Given the description of an element on the screen output the (x, y) to click on. 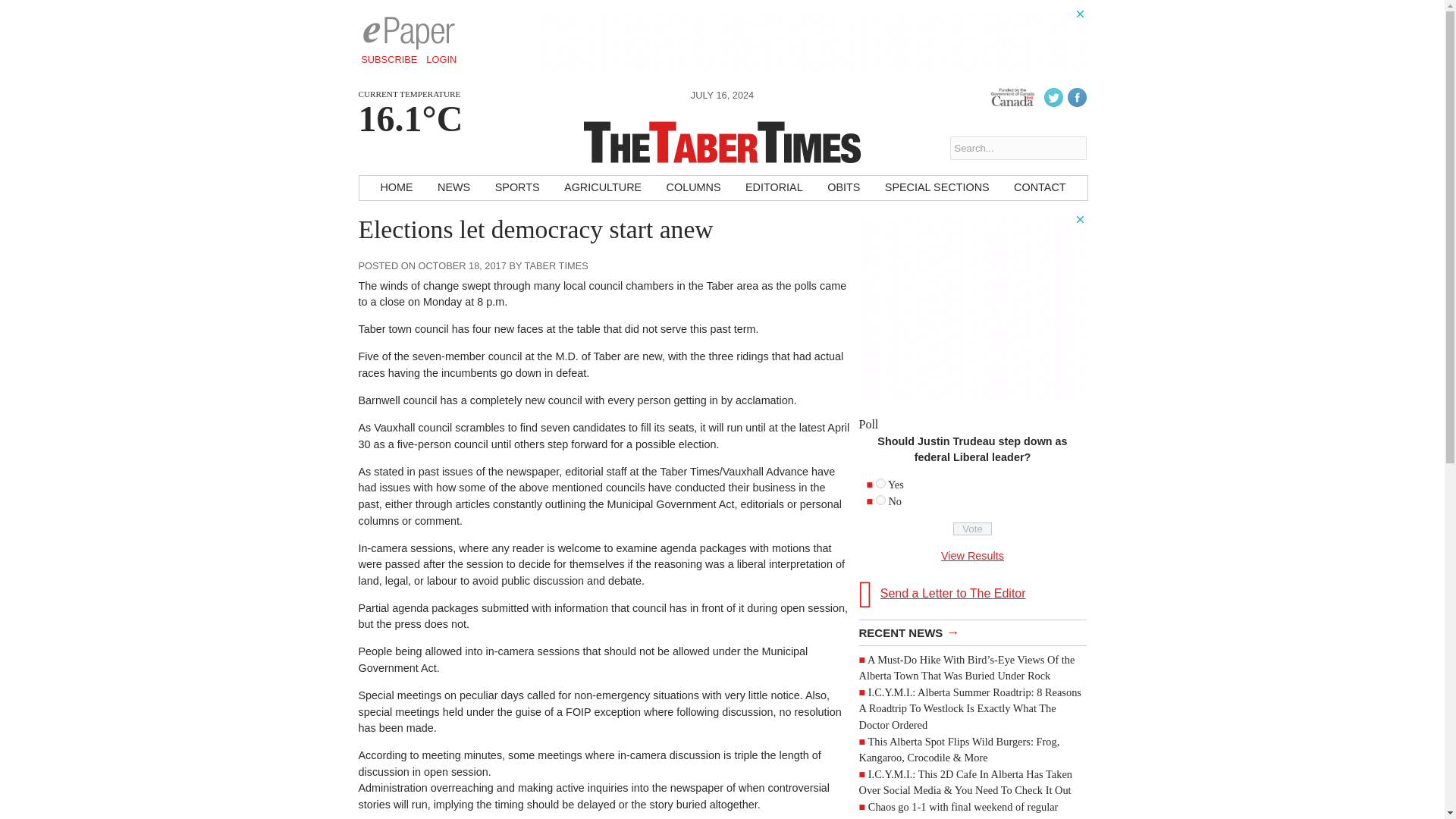
SUBSCRIBE (389, 58)
SPORTS (517, 187)
AGRICULTURE (602, 187)
SPECIAL SECTIONS (937, 187)
3rd party ad content (810, 41)
HOME (396, 187)
Send a Letter to The Editor (972, 594)
522 (880, 500)
EDITORIAL (774, 187)
View Results Of This Poll (972, 555)
Chaos go 1-1 with final weekend of regular season looming (958, 809)
NEWS (453, 187)
View Results (972, 555)
CONTACT (1039, 187)
